Given the description of an element on the screen output the (x, y) to click on. 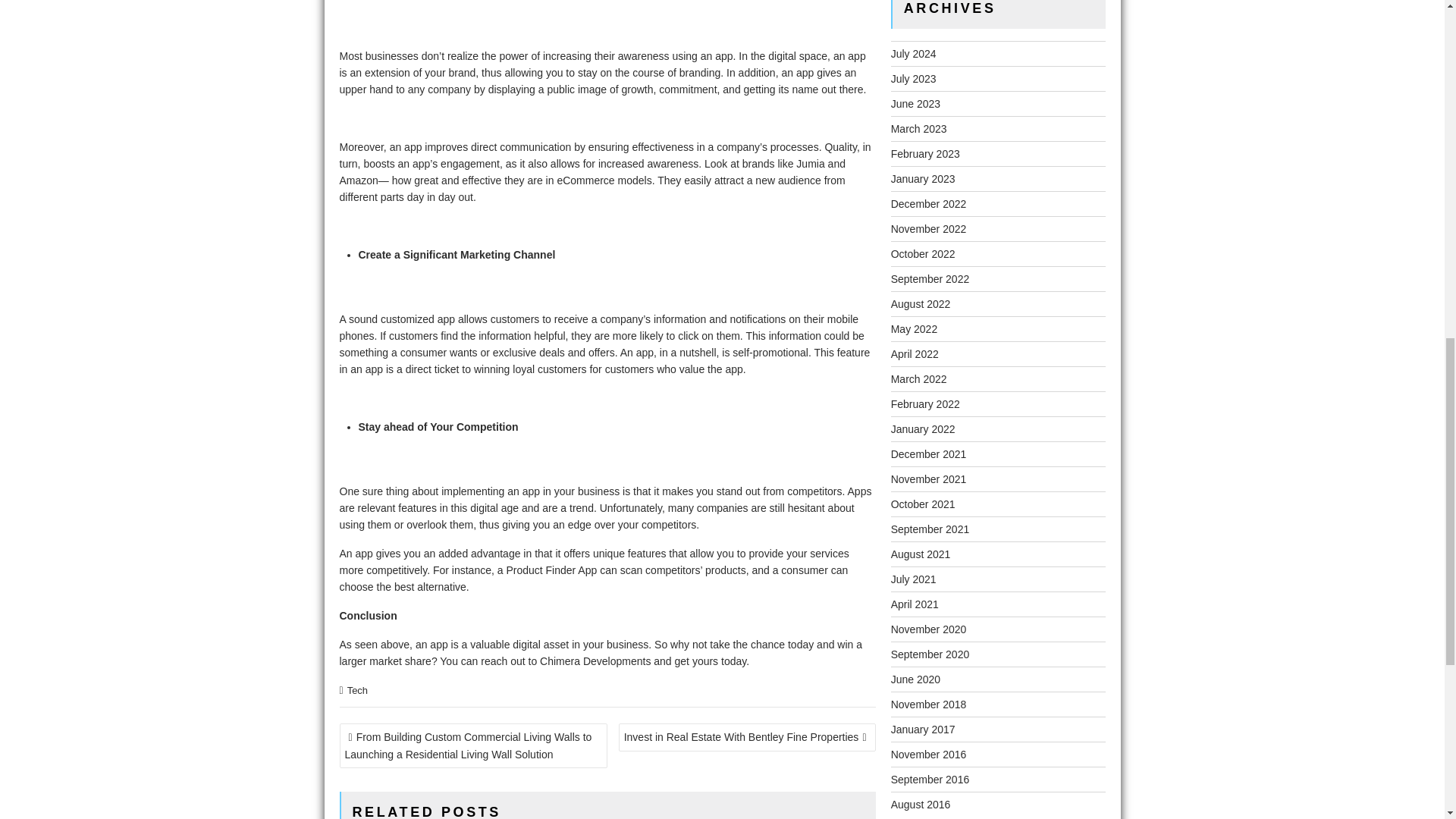
March 2023 (919, 128)
July 2023 (913, 78)
Tech (357, 690)
June 2023 (915, 103)
February 2023 (925, 153)
Invest in Real Estate With Bentley Fine Properties (747, 737)
July 2024 (913, 53)
